Given the description of an element on the screen output the (x, y) to click on. 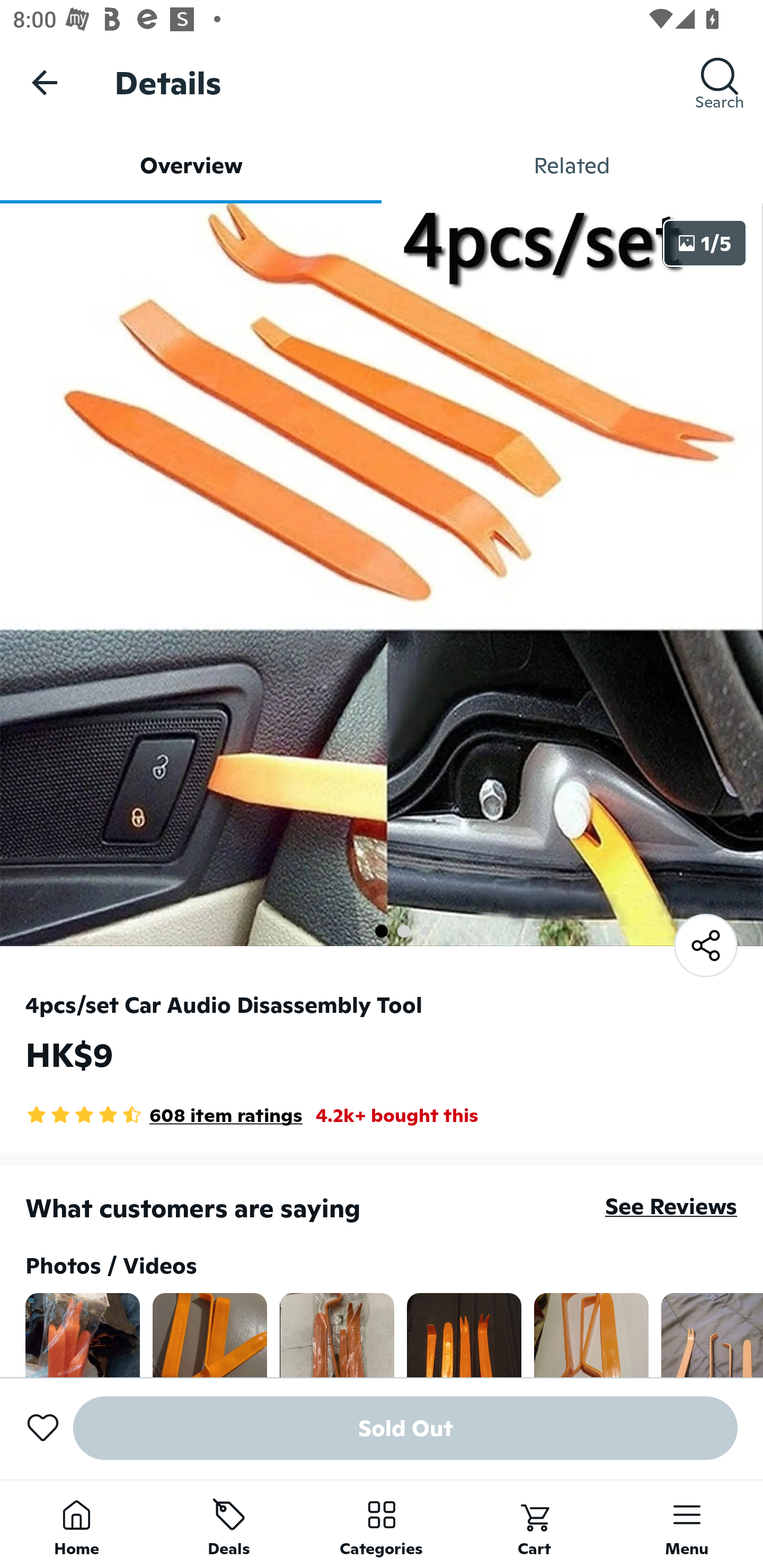
Navigate up (44, 82)
Search (719, 82)
Related (572, 165)
1/5 (705, 242)
4pcs/set Car Audio Disassembly Tool (223, 1003)
4.4 Star Rating 608 item ratings (163, 1114)
See Reviews (671, 1206)
Sold Out (405, 1428)
Home (76, 1523)
Deals (228, 1523)
Categories (381, 1523)
Cart (533, 1523)
Menu (686, 1523)
